Given the description of an element on the screen output the (x, y) to click on. 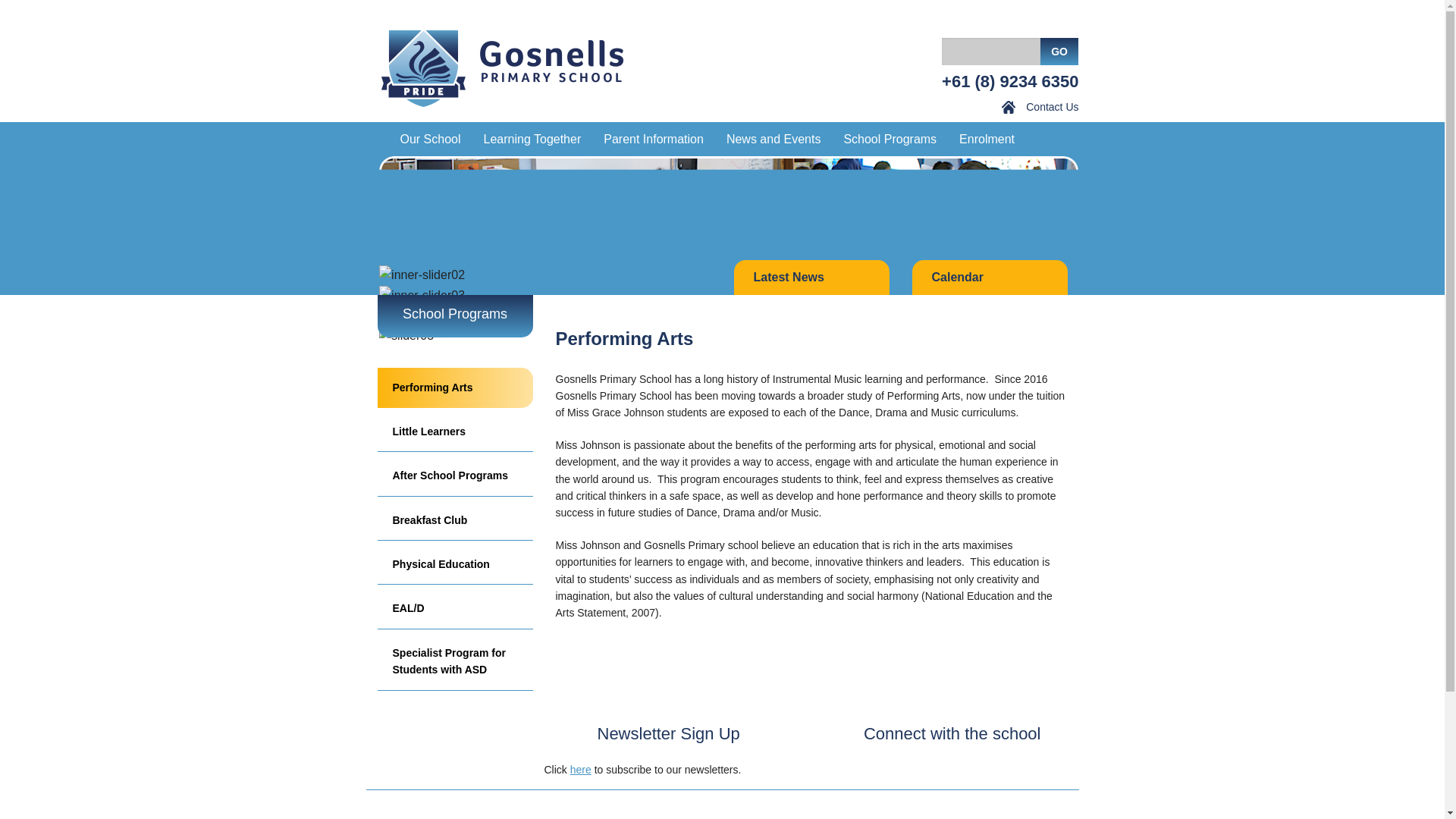
Useful Links (653, 311)
Little Learners (889, 190)
GO (1059, 51)
Handbooks (653, 167)
Local Intake Area (986, 190)
Calendar (773, 190)
Performing Arts (889, 167)
Latest News (773, 167)
Enrolment (986, 139)
Breakfast Club (889, 235)
